Given the description of an element on the screen output the (x, y) to click on. 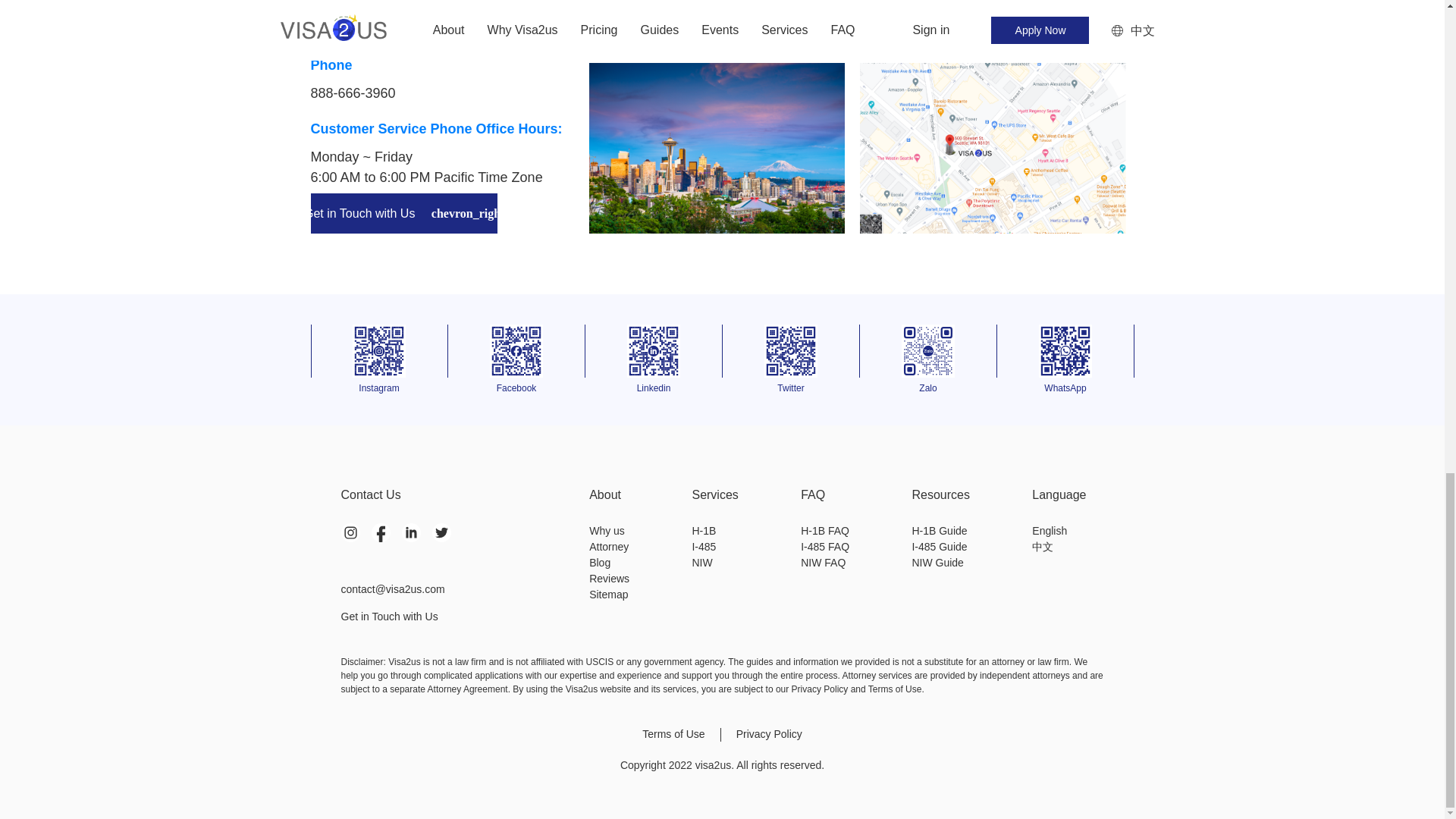
I-485 (714, 546)
Attorney (608, 546)
Get in Touch with Us (464, 610)
Blog (608, 562)
Why us (608, 530)
888-666-3960 (353, 92)
Sitemap (608, 594)
Reviews (608, 578)
H-1B (714, 530)
